Given the description of an element on the screen output the (x, y) to click on. 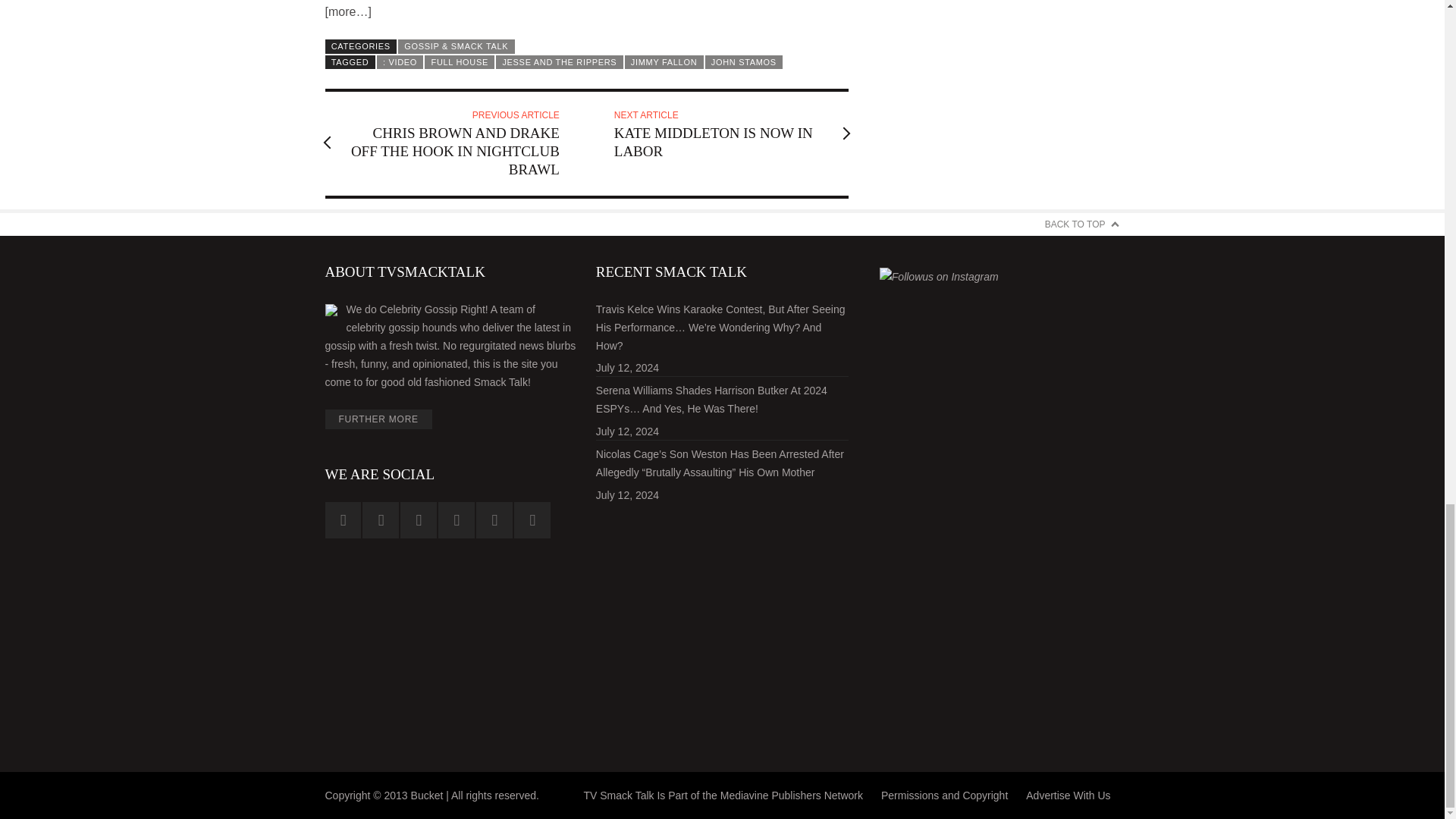
View all posts tagged jesse and the rippers (559, 61)
View all posts tagged john stamos (743, 61)
View all posts tagged Jimmy Fallon (663, 61)
View all posts tagged full house (460, 61)
View all posts tagged : Video (400, 61)
